Given the description of an element on the screen output the (x, y) to click on. 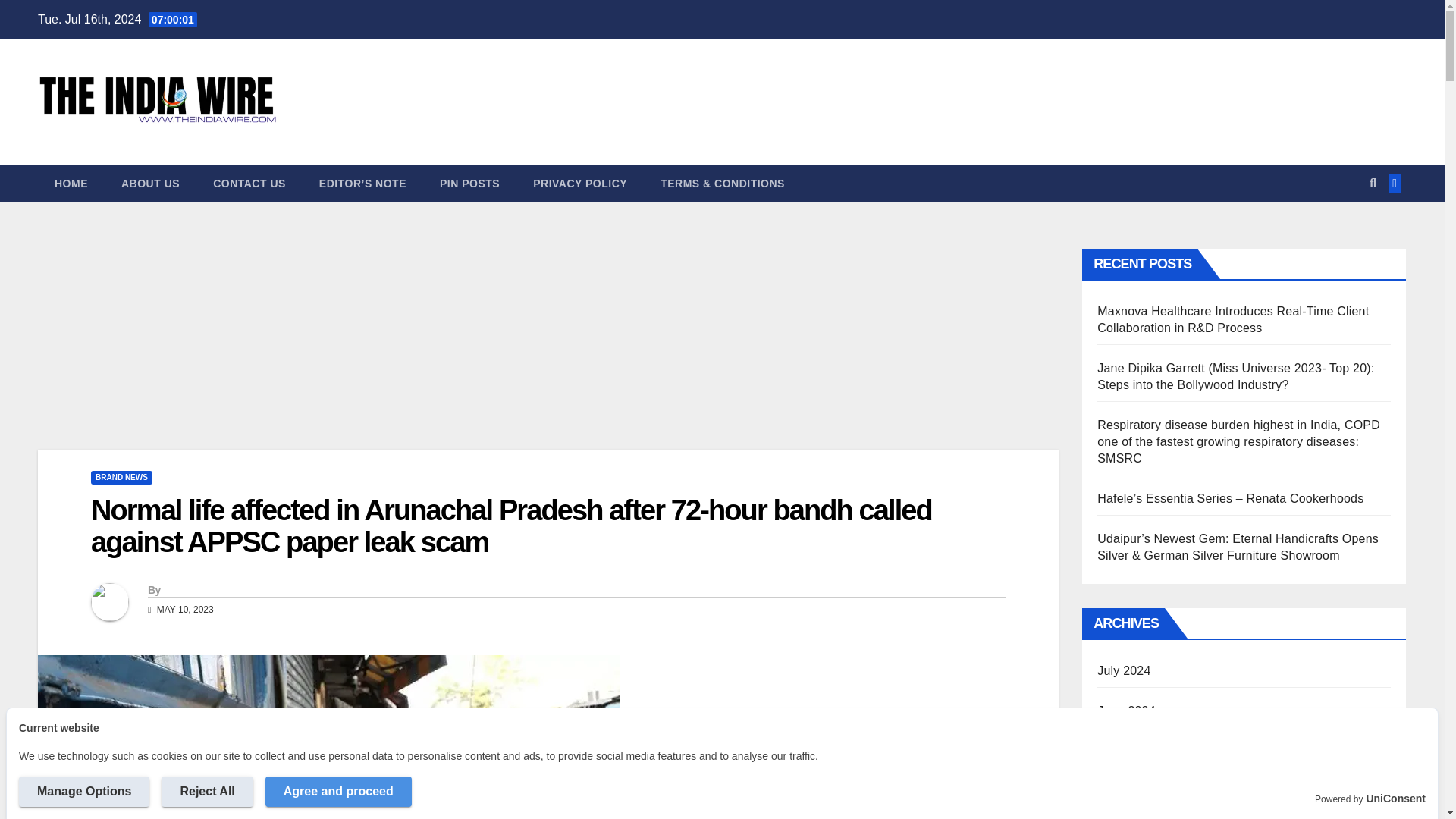
PRIVACY POLICY (579, 183)
PIN POSTS (469, 183)
Home (70, 183)
Manage Options (83, 791)
Reject All (206, 791)
UniConsent Consent Manager (1395, 798)
Manage Consent (18, 799)
HOME (70, 183)
UniConsent (1395, 798)
BRAND NEWS (121, 477)
ABOUT US (150, 183)
CONTACT US (249, 183)
Agree and proceed (338, 791)
